Given the description of an element on the screen output the (x, y) to click on. 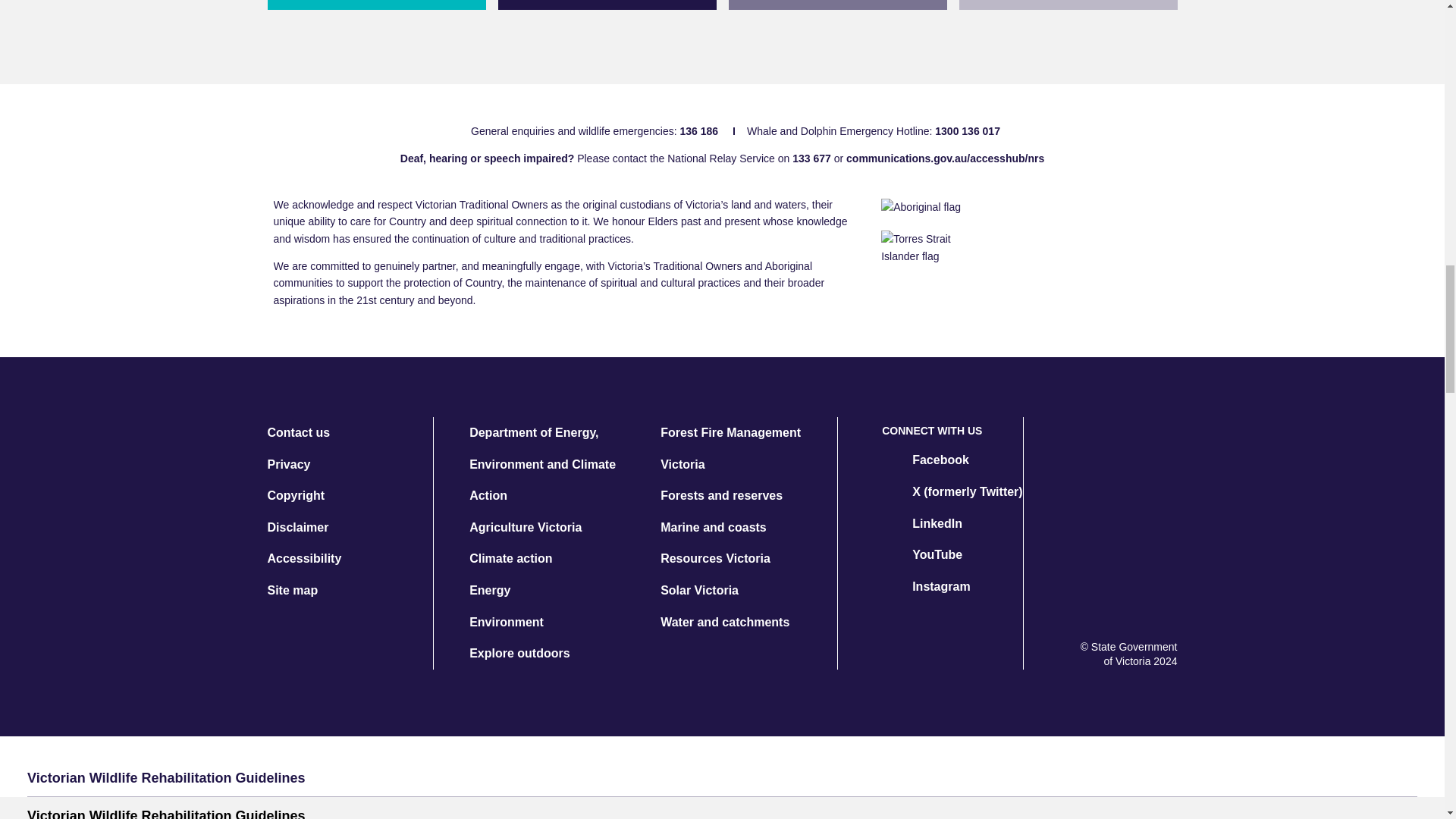
Coming together to help threatened birds of a feather (375, 4)
vic.gov.au (1139, 596)
Victoria Nature Festival 2022 (1067, 4)
YouTube (922, 554)
Facebook (925, 459)
Instagram (925, 586)
Open submenu (1397, 777)
LinkedIn (922, 523)
Lake Connewarre State Game Reserve Closure (606, 4)
Build new coastal connections at Summer by the Sea in 2023 (837, 4)
